Given the description of an element on the screen output the (x, y) to click on. 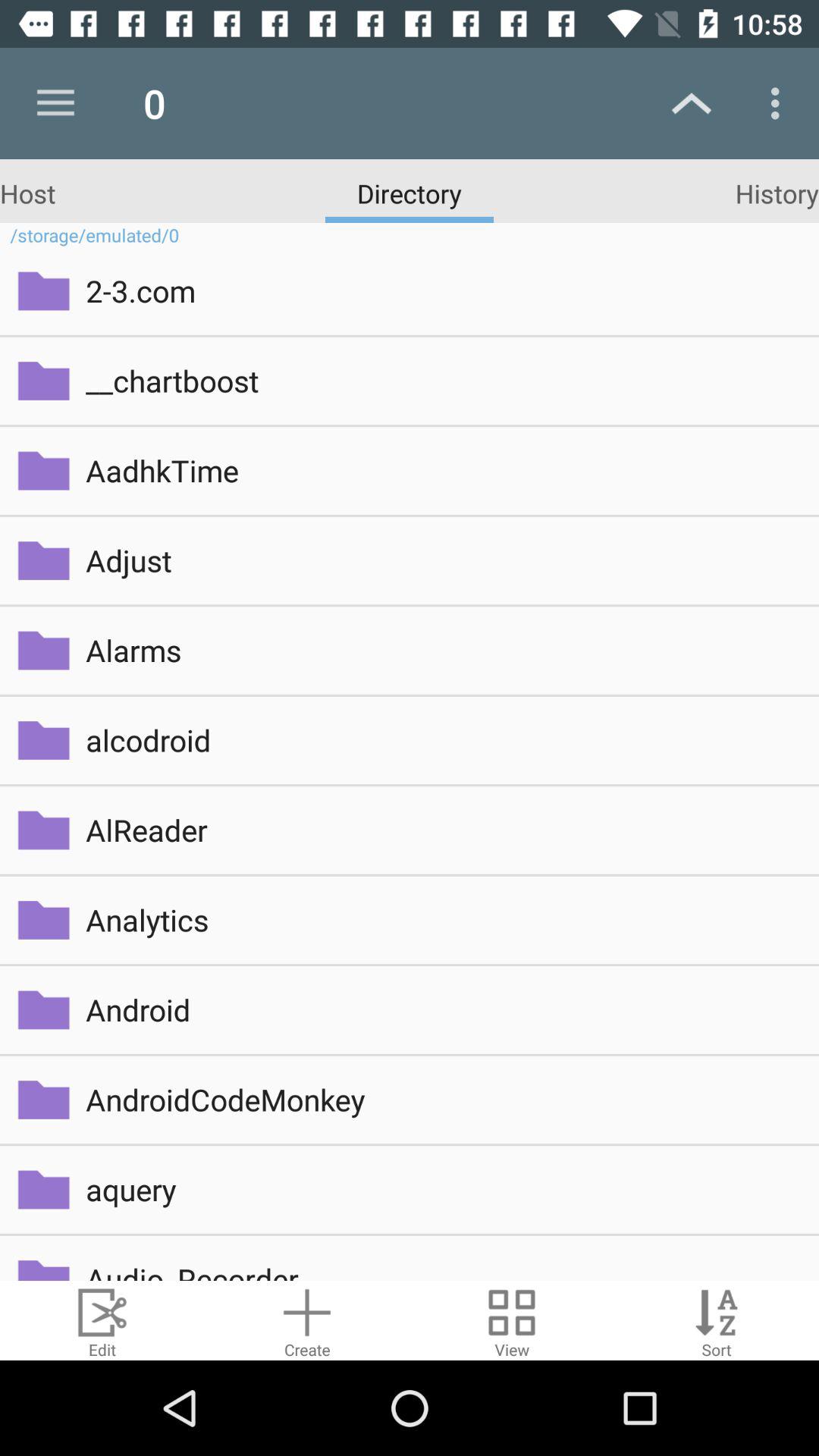
change layout (511, 1320)
